Given the description of an element on the screen output the (x, y) to click on. 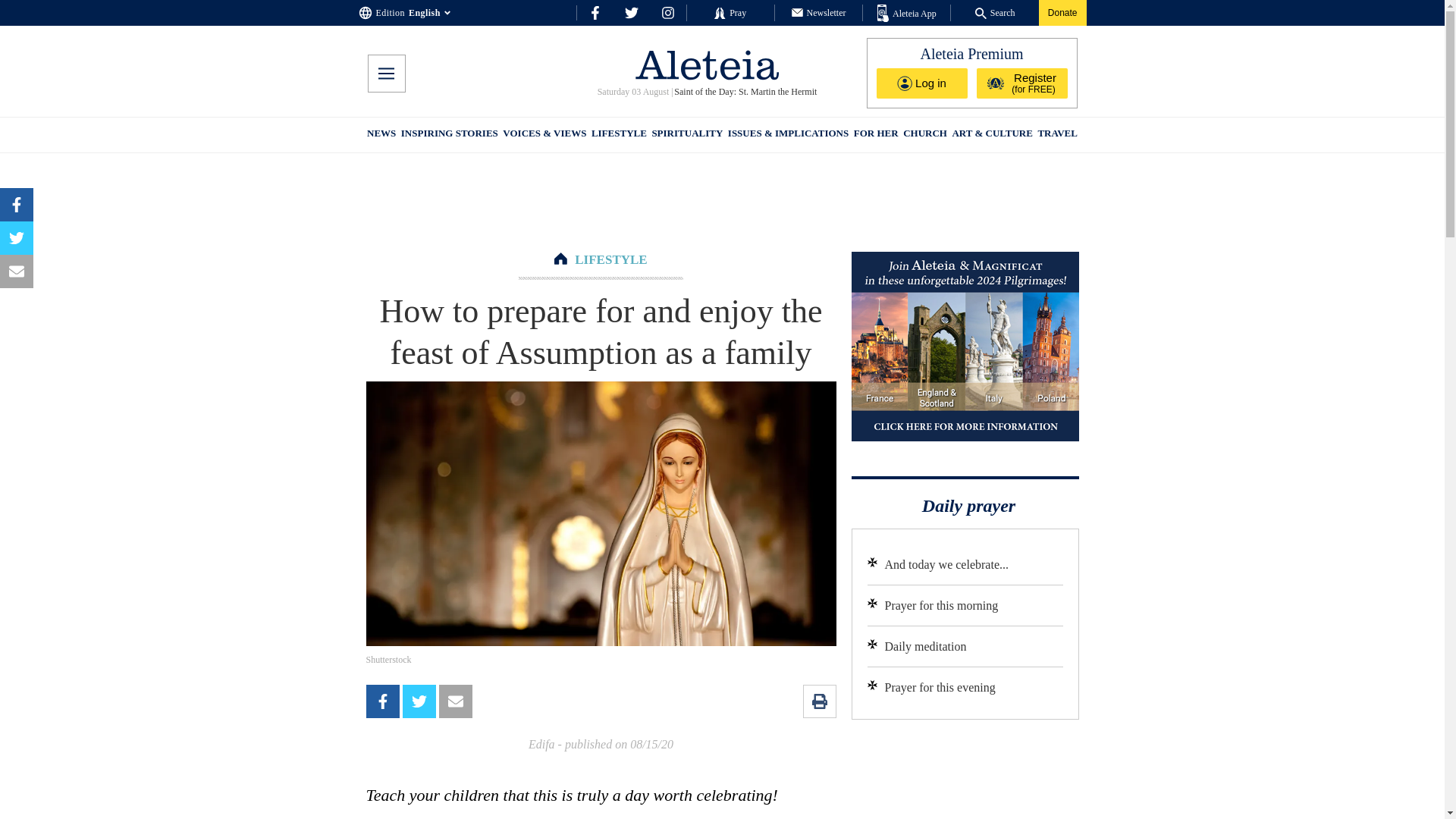
social-ig-top-row (668, 12)
Saint of the Day: St. Martin the Hermit (744, 91)
FOR HER (875, 134)
SPIRITUALITY (686, 134)
mobile-menu-btn (385, 73)
LIFESTYLE (618, 134)
INSPIRING STORIES (449, 134)
CHURCH (924, 134)
Newsletter (818, 12)
LIFESTYLE (610, 259)
Log in (922, 82)
Search (994, 12)
logo-header (706, 64)
Edifa (541, 744)
Aleteia App (906, 13)
